Given the description of an element on the screen output the (x, y) to click on. 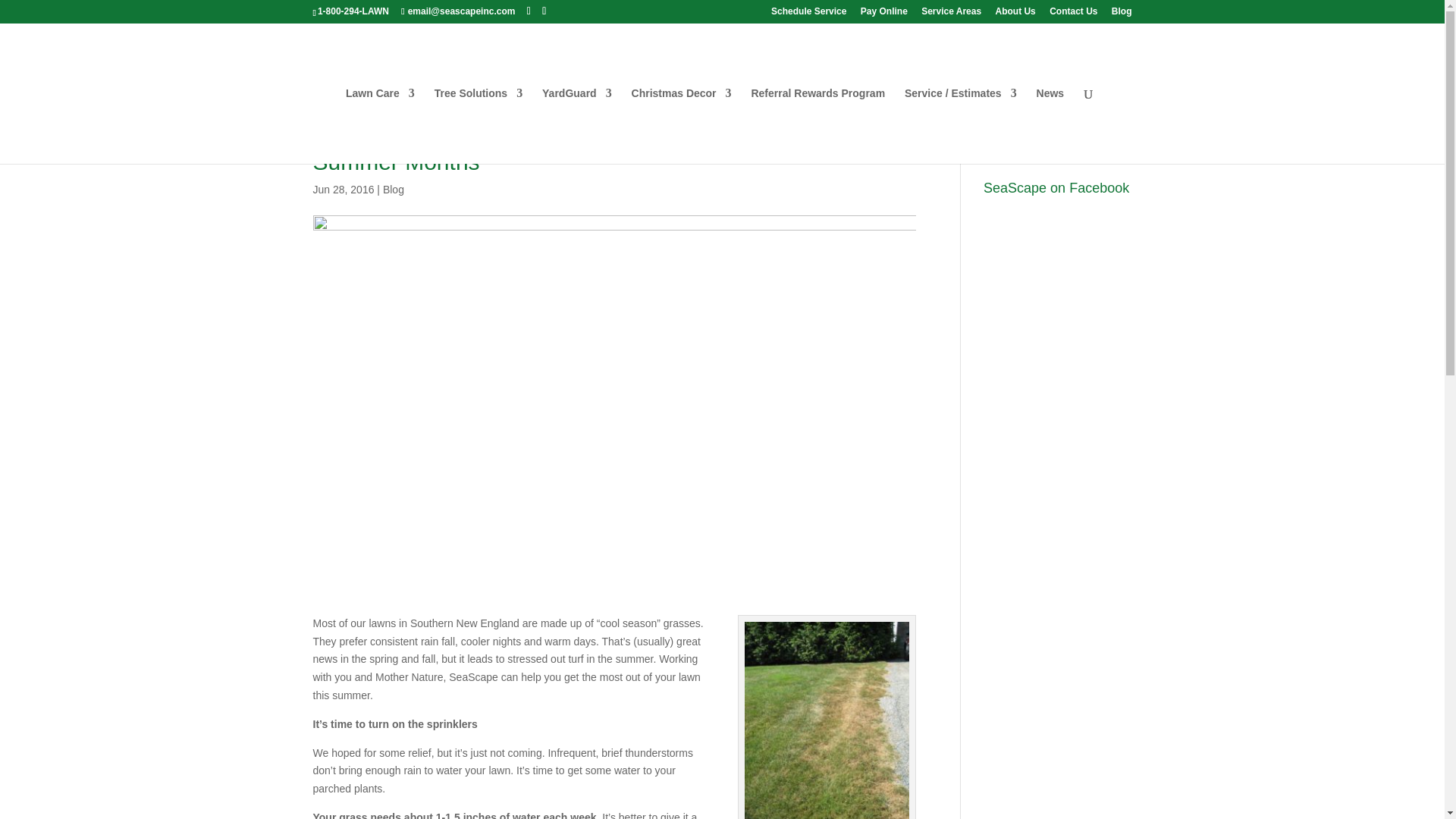
Blog (1122, 14)
About Us (1014, 14)
Pay Online (883, 14)
Lawn Care (380, 125)
Christmas Decor (681, 125)
Tree Solutions (477, 125)
Contact Us (1073, 14)
Service Areas (951, 14)
Blog (393, 189)
YardGuard (576, 125)
